Given the description of an element on the screen output the (x, y) to click on. 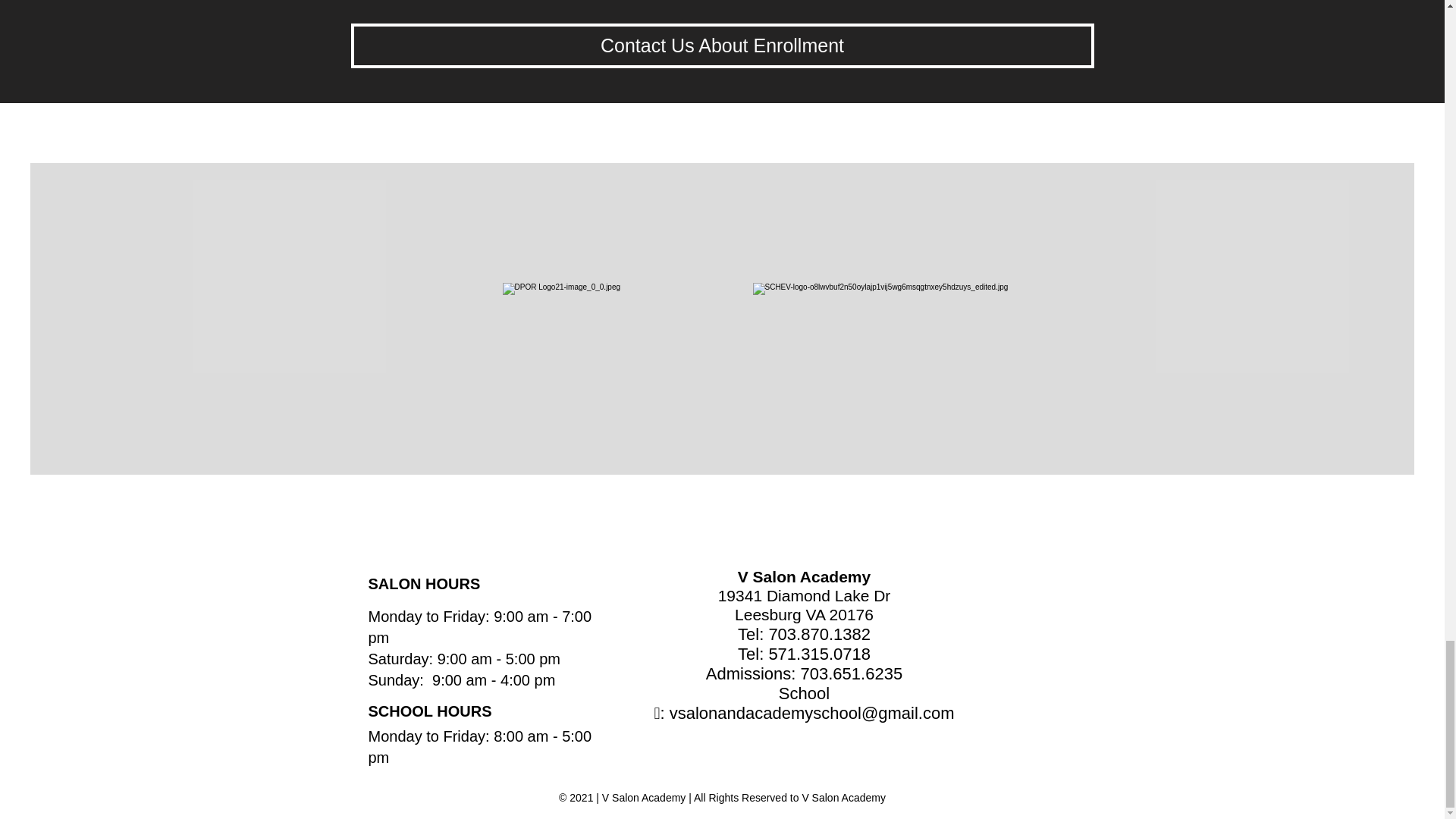
Contact Us About Enrollment (721, 45)
